Given the description of an element on the screen output the (x, y) to click on. 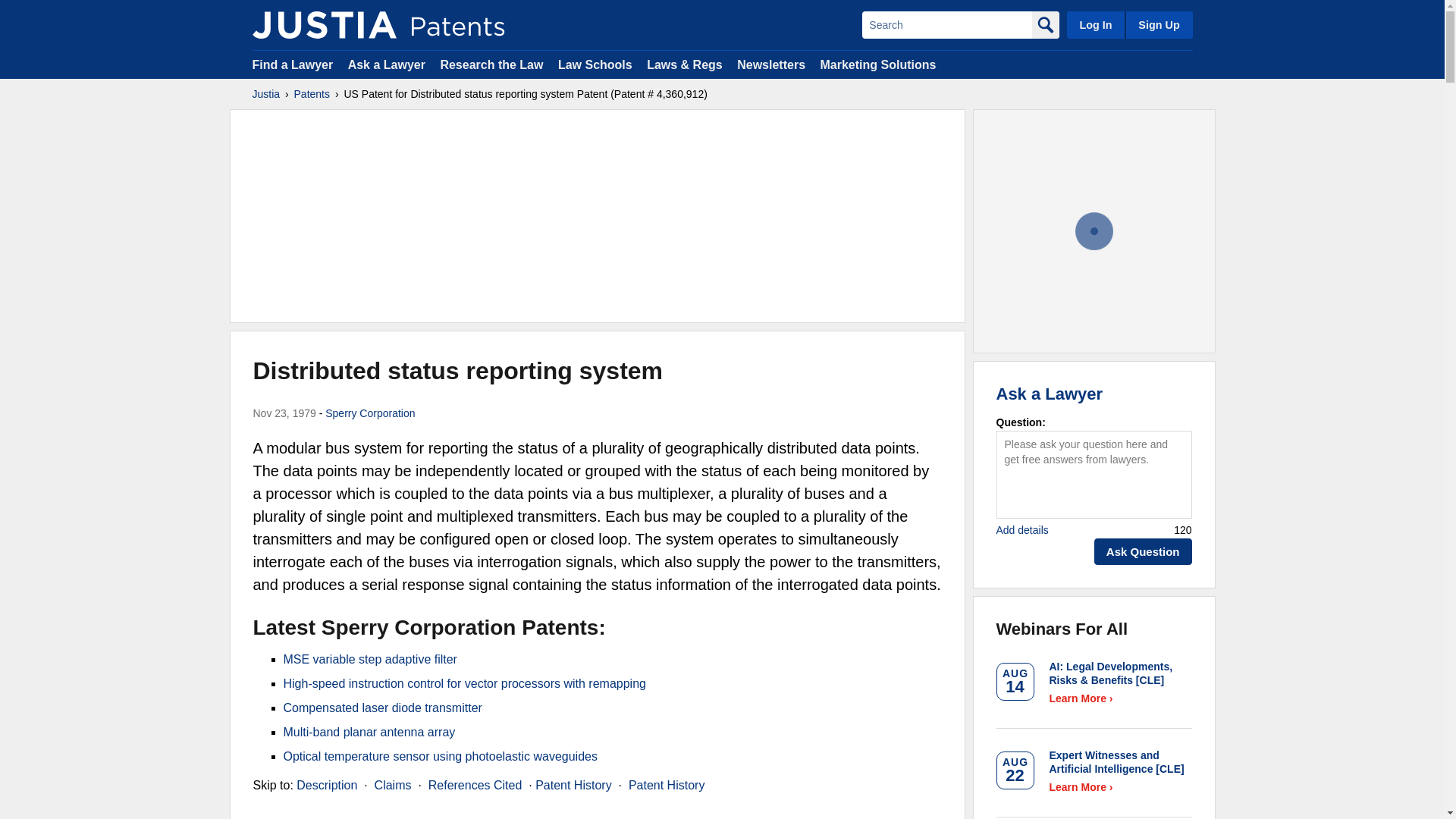
Sperry Corporation (369, 413)
Patent History (573, 784)
Research the Law (491, 64)
Multi-band planar antenna array (369, 731)
Justia (265, 93)
Patents (312, 93)
Patent History (666, 784)
Description (326, 784)
Marketing Solutions (877, 64)
